Given the description of an element on the screen output the (x, y) to click on. 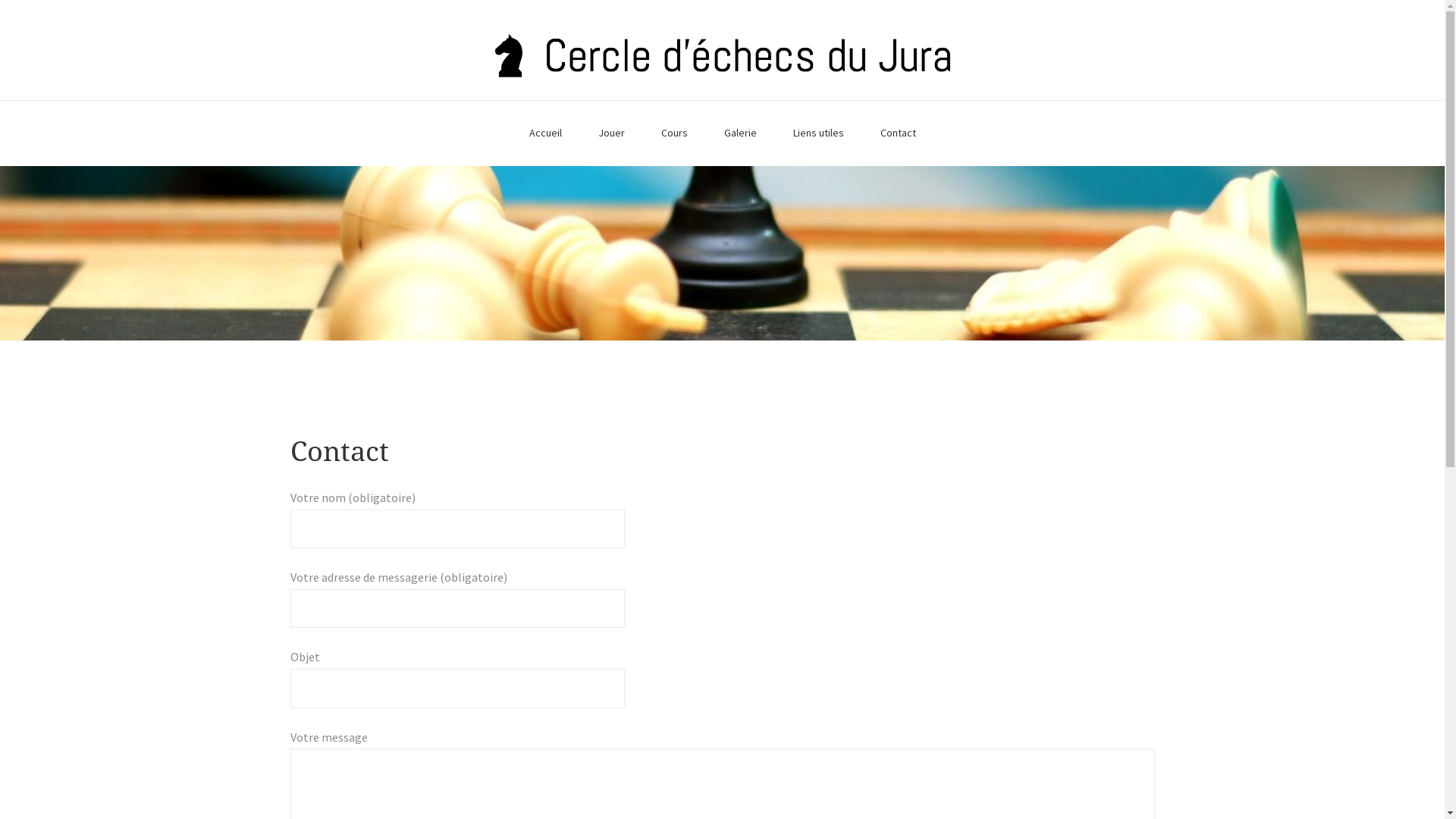
Cours Element type: text (674, 133)
Jouer Element type: text (610, 133)
Liens utiles Element type: text (818, 133)
Galerie Element type: text (739, 133)
Accueil Element type: text (545, 133)
Contact Element type: text (897, 133)
